Given the description of an element on the screen output the (x, y) to click on. 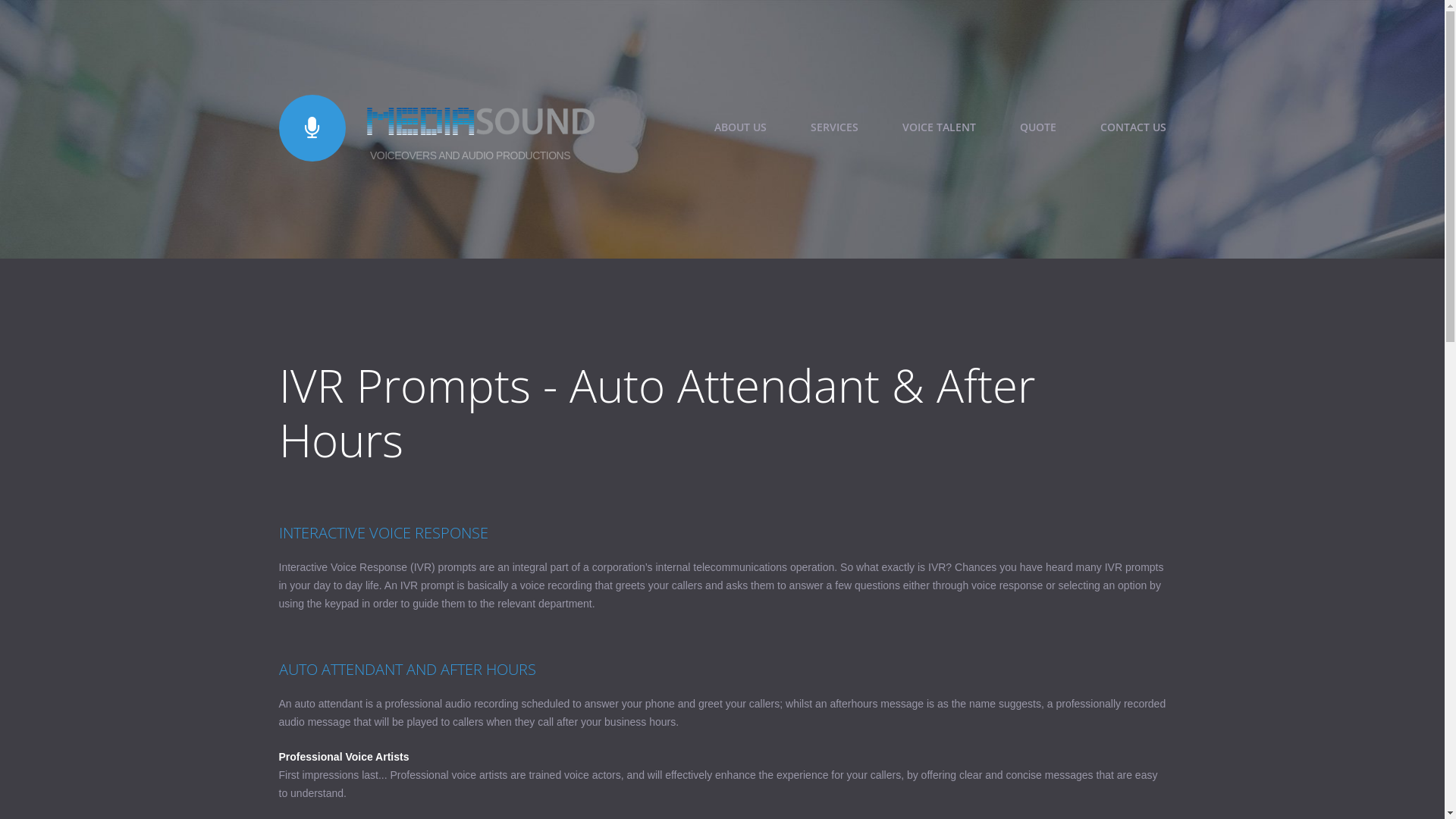
ABOUT US Element type: text (740, 127)
QUOTE Element type: text (1037, 127)
VOICE TALENT Element type: text (938, 127)
CONTACT US Element type: text (1132, 127)
SERVICES Element type: text (833, 127)
